Given the description of an element on the screen output the (x, y) to click on. 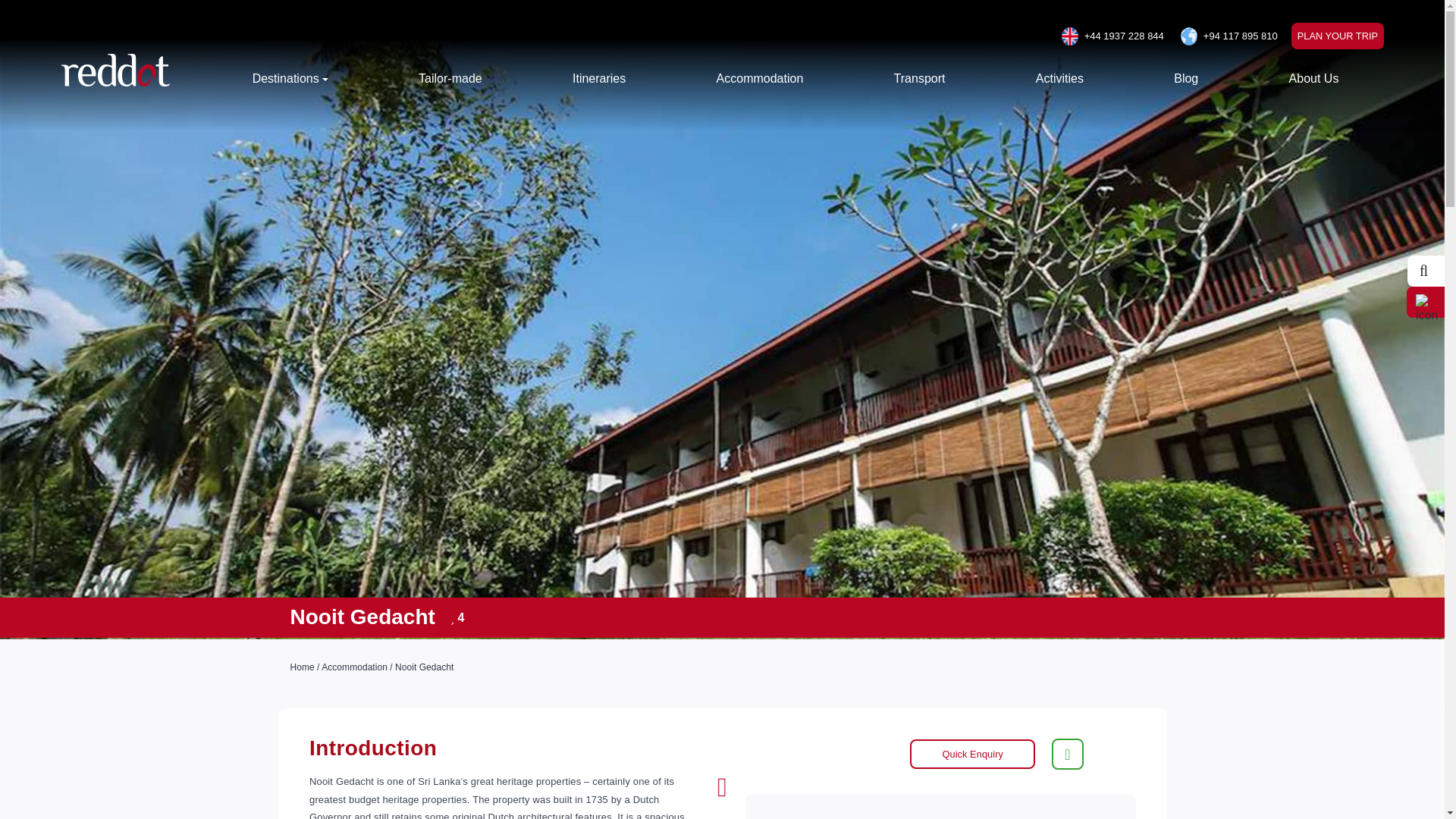
About Us (1313, 78)
Transport (919, 78)
Destinations (289, 78)
Accommodation (759, 78)
PLAN YOUR TRIP (1337, 35)
Itineraries (599, 78)
Activities (1059, 78)
Blog (1186, 78)
Tailor-made (449, 78)
Accommodation (354, 666)
